Given the description of an element on the screen output the (x, y) to click on. 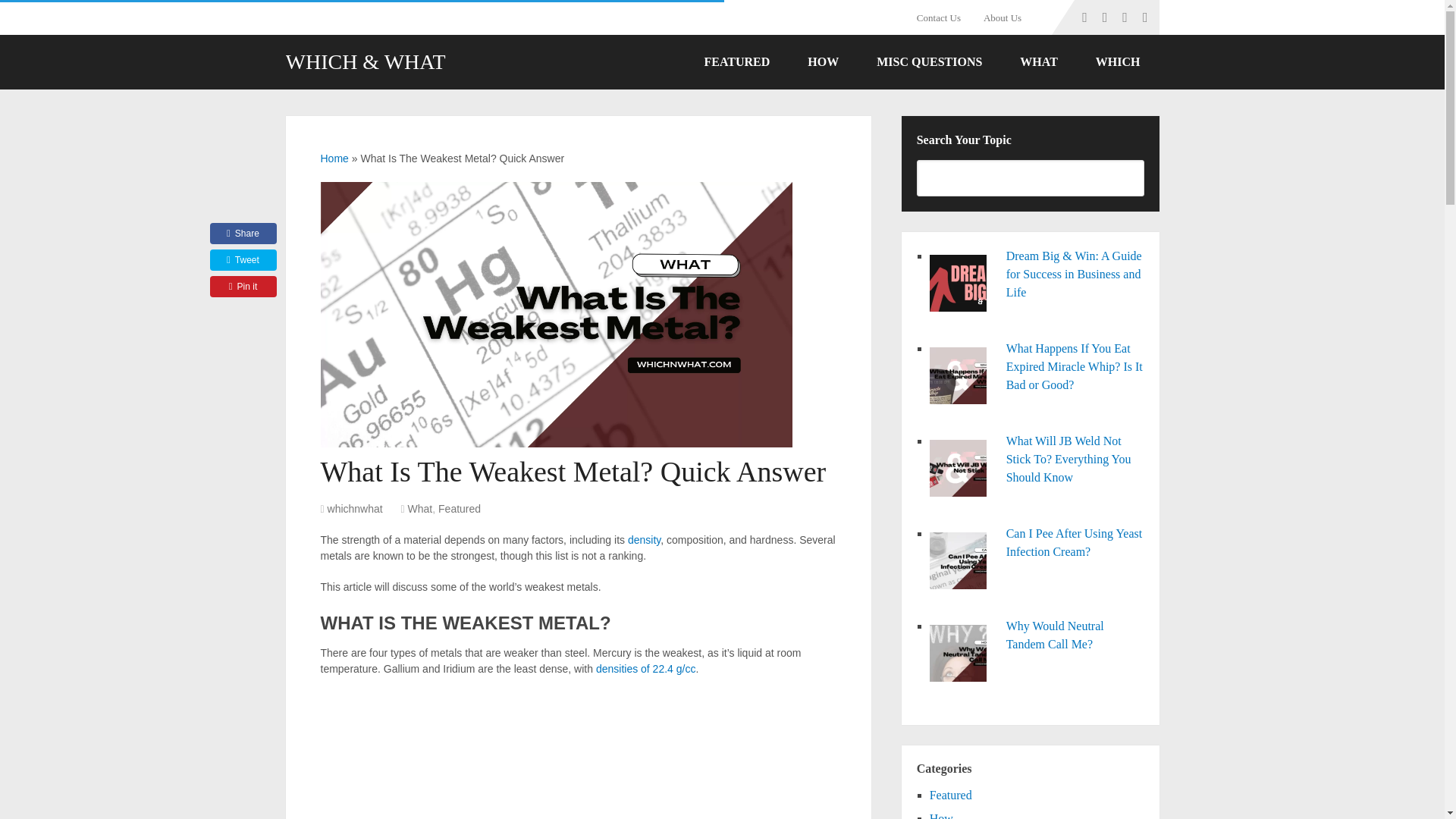
Pin it (242, 286)
Posts by whichnwhat (354, 508)
MISC QUESTIONS (929, 62)
View all posts in What (419, 508)
whichnwhat (354, 508)
Tweet (242, 260)
HOW (823, 62)
Advertisement (577, 755)
WHICH (1117, 62)
View all posts in Featured (459, 508)
Featured (459, 508)
Share (242, 233)
Home (333, 158)
FEATURED (736, 62)
Contact Us (944, 17)
